Given the description of an element on the screen output the (x, y) to click on. 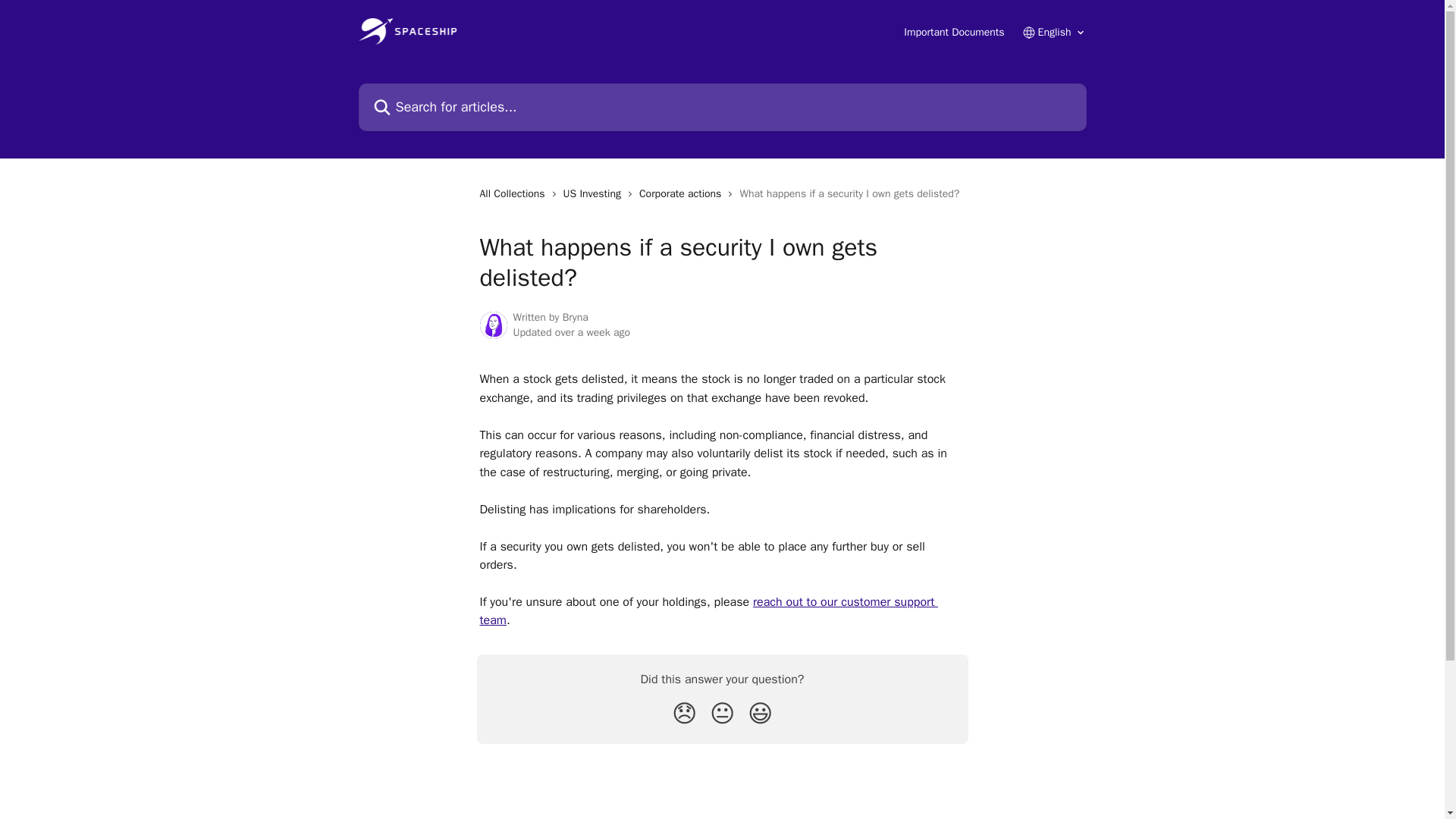
All Collections (514, 193)
Important Documents (954, 32)
reach out to our customer support team (708, 611)
Corporate actions (682, 193)
US Investing (595, 193)
